Given the description of an element on the screen output the (x, y) to click on. 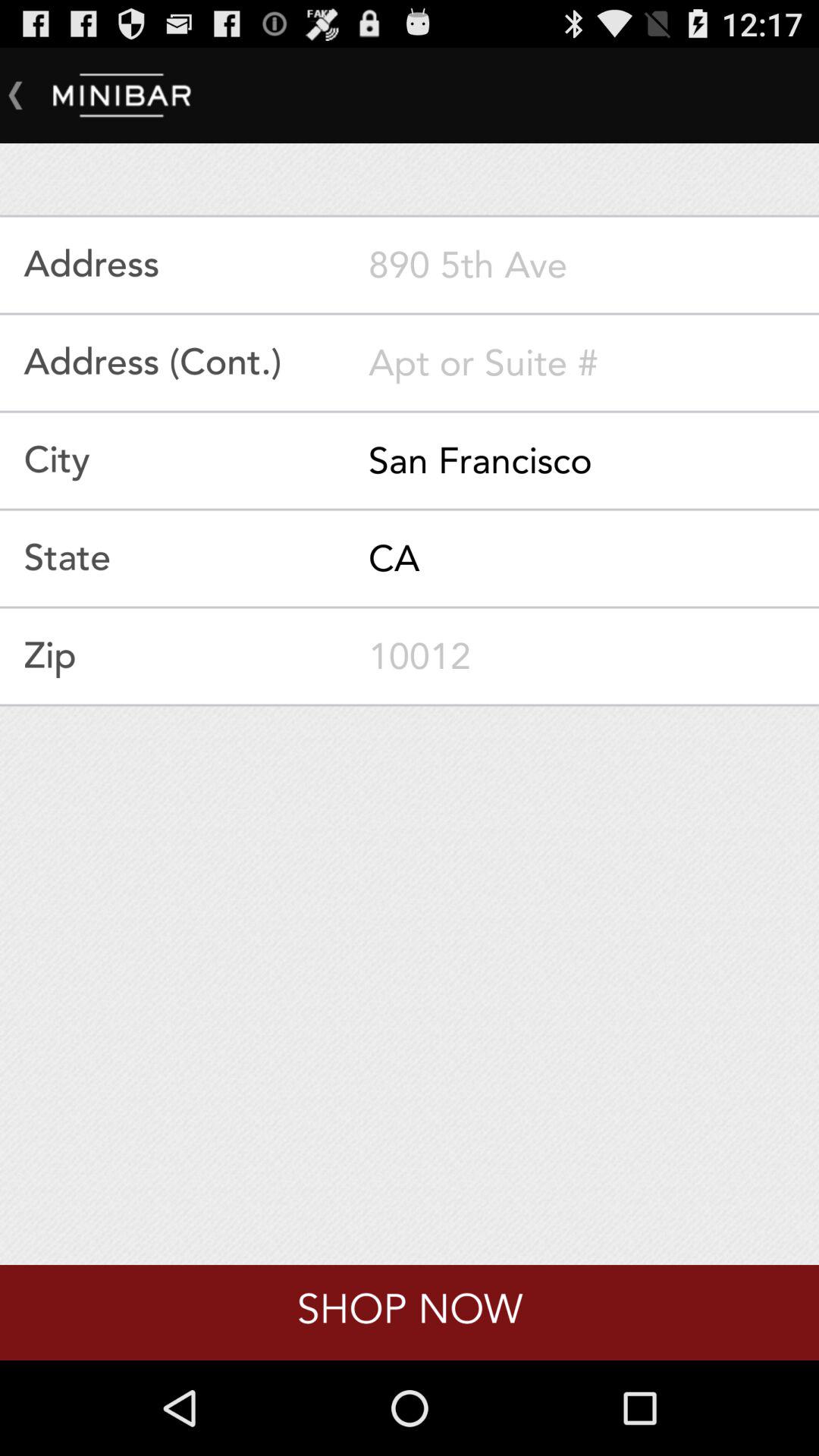
enter the address (593, 264)
